Given the description of an element on the screen output the (x, y) to click on. 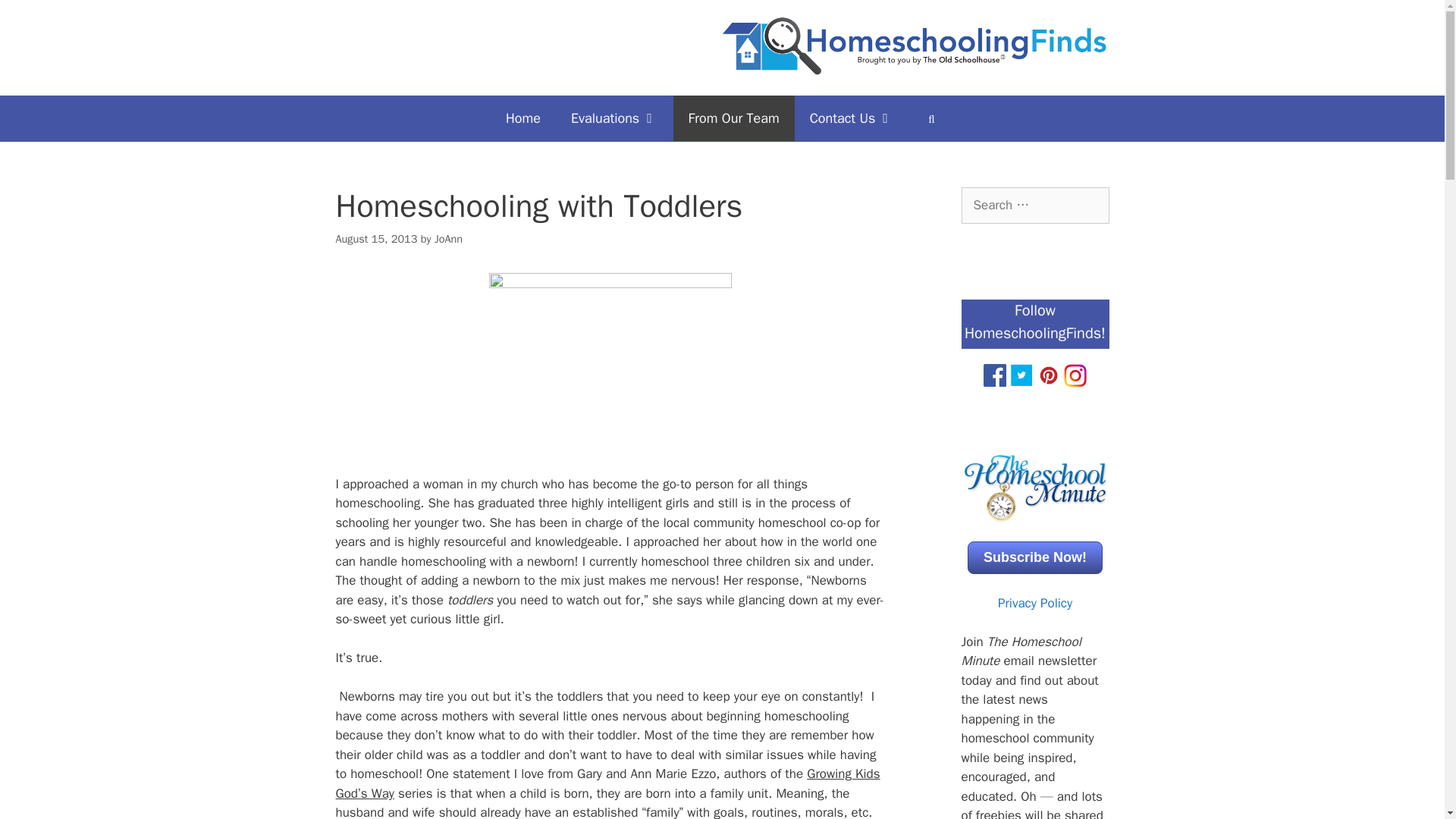
Home (523, 117)
View all posts by JoAnn (448, 238)
Search for: (1034, 205)
Search (35, 18)
From Our Team (733, 117)
Evaluations (614, 117)
JoAnn (448, 238)
Contact Us (851, 117)
